Given the description of an element on the screen output the (x, y) to click on. 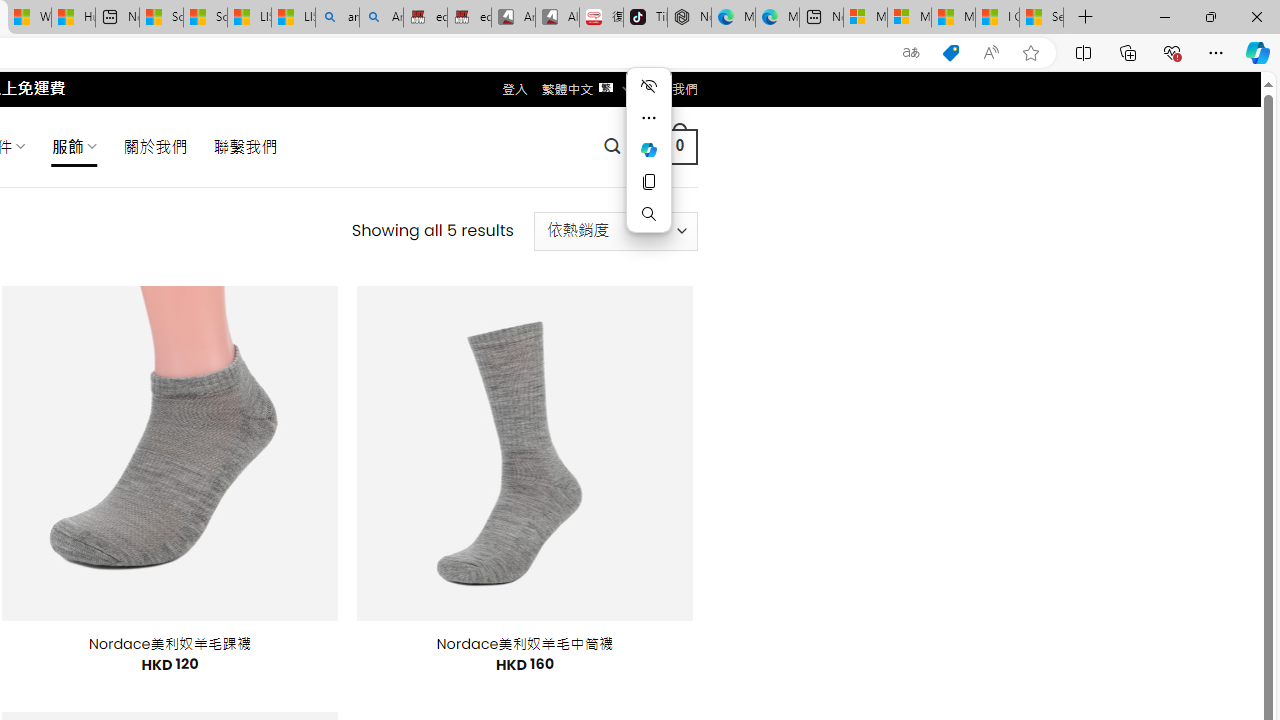
Split screen (1083, 52)
More actions (648, 117)
 0  (679, 146)
Settings and more (Alt+F) (1215, 52)
TikTok (644, 17)
Huge shark washes ashore at New York City beach | Watch (73, 17)
I Gained 20 Pounds of Muscle in 30 Days! | Watch (996, 17)
This site has coupons! Shopping in Microsoft Edge (950, 53)
